Given the description of an element on the screen output the (x, y) to click on. 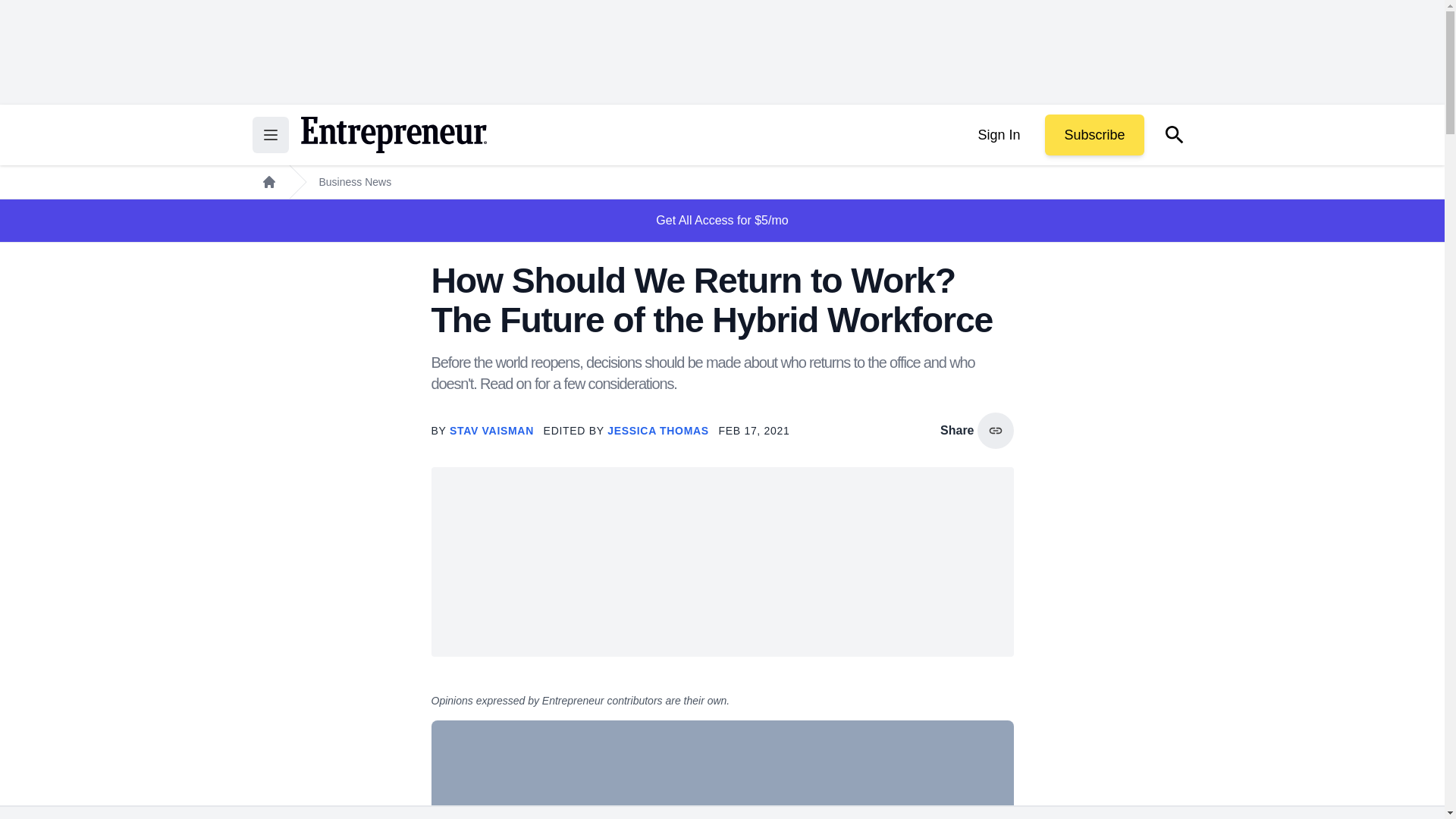
copy (994, 430)
Subscribe (1093, 134)
Sign In (998, 134)
Return to the home page (392, 135)
